Given the description of an element on the screen output the (x, y) to click on. 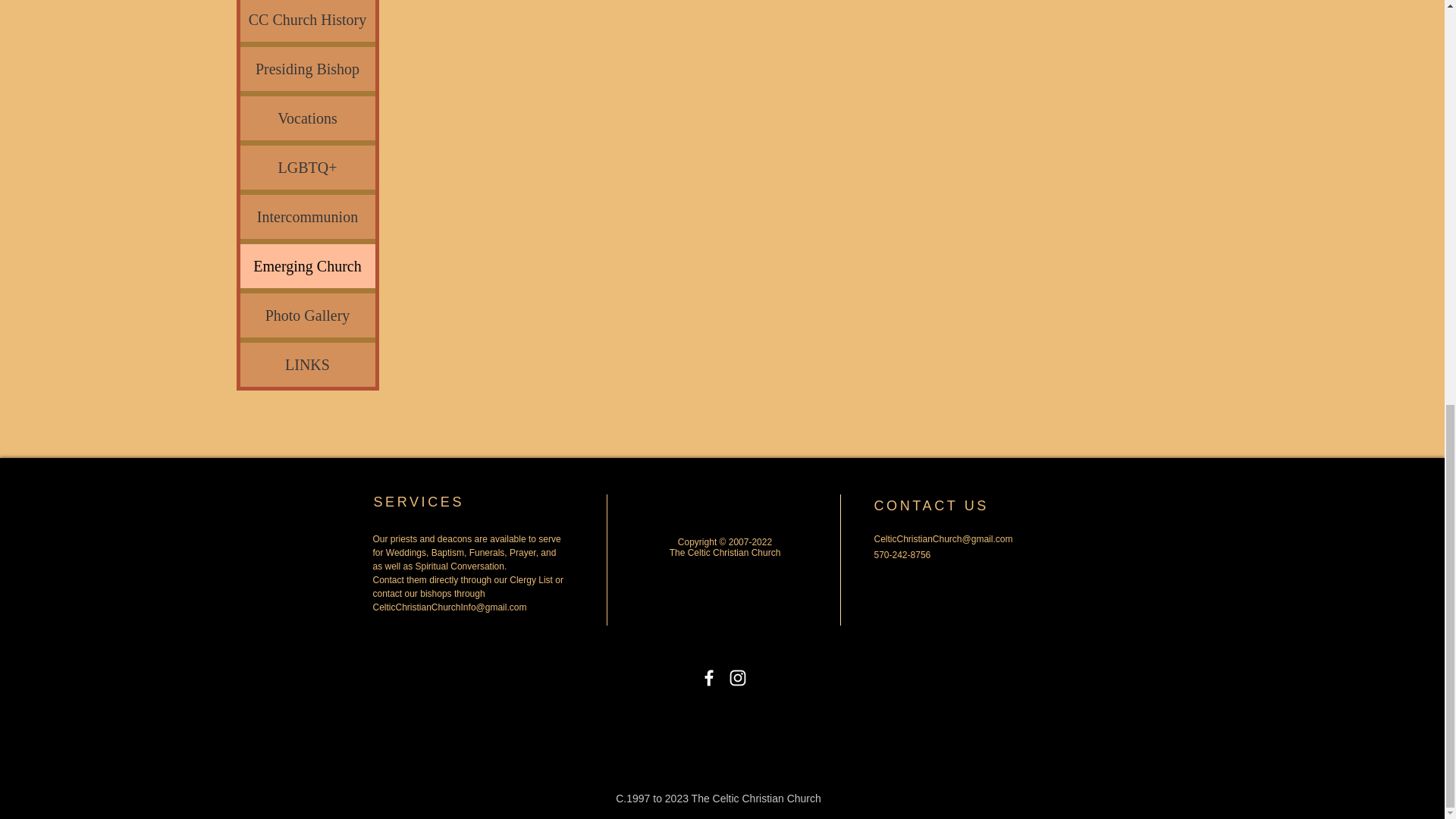
CC Church History (307, 20)
